Given the description of an element on the screen output the (x, y) to click on. 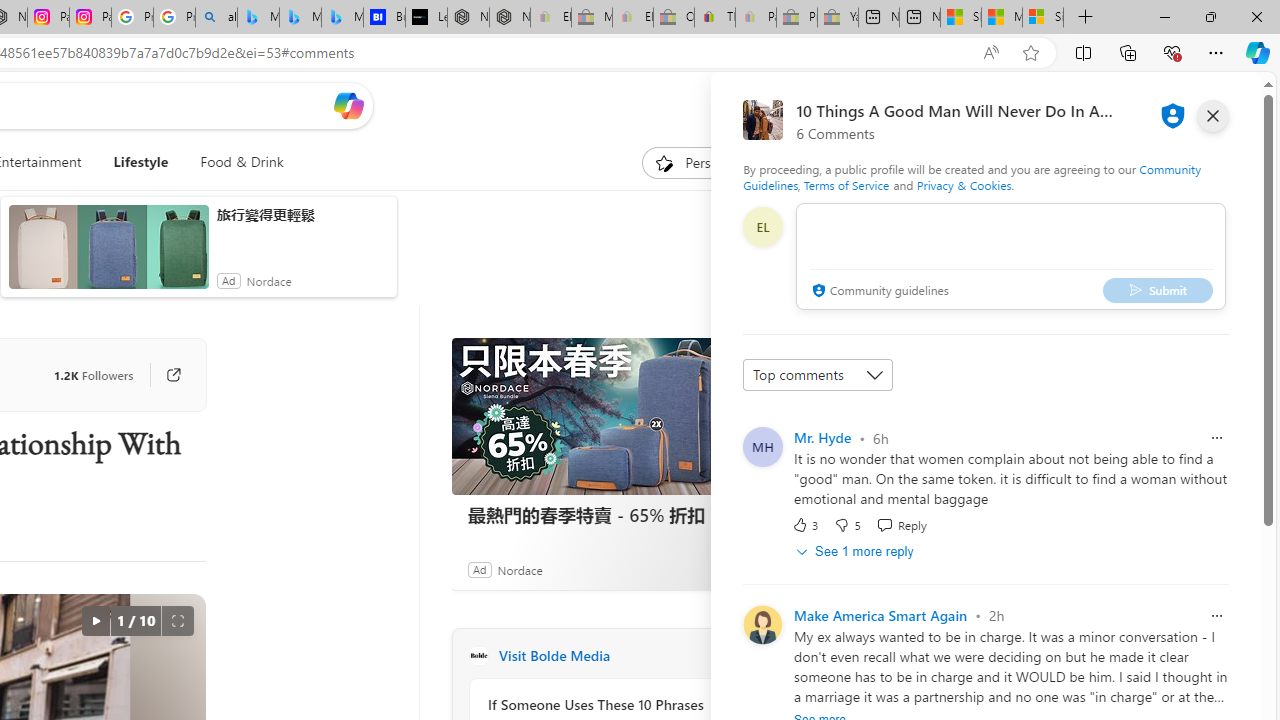
autorotate button (95, 620)
Full screen (177, 620)
Yard, Garden & Outdoor Living - Sleeping (837, 17)
Microsoft rewards (1137, 105)
3 Like (804, 524)
Reply Reply Comment (900, 524)
Microsoft Bing Travel - Flights from Hong Kong to Bangkok (258, 17)
Lifestyle (141, 162)
Microsoft Bing Travel - Shangri-La Hotel Bangkok (342, 17)
close (1212, 115)
